Given the description of an element on the screen output the (x, y) to click on. 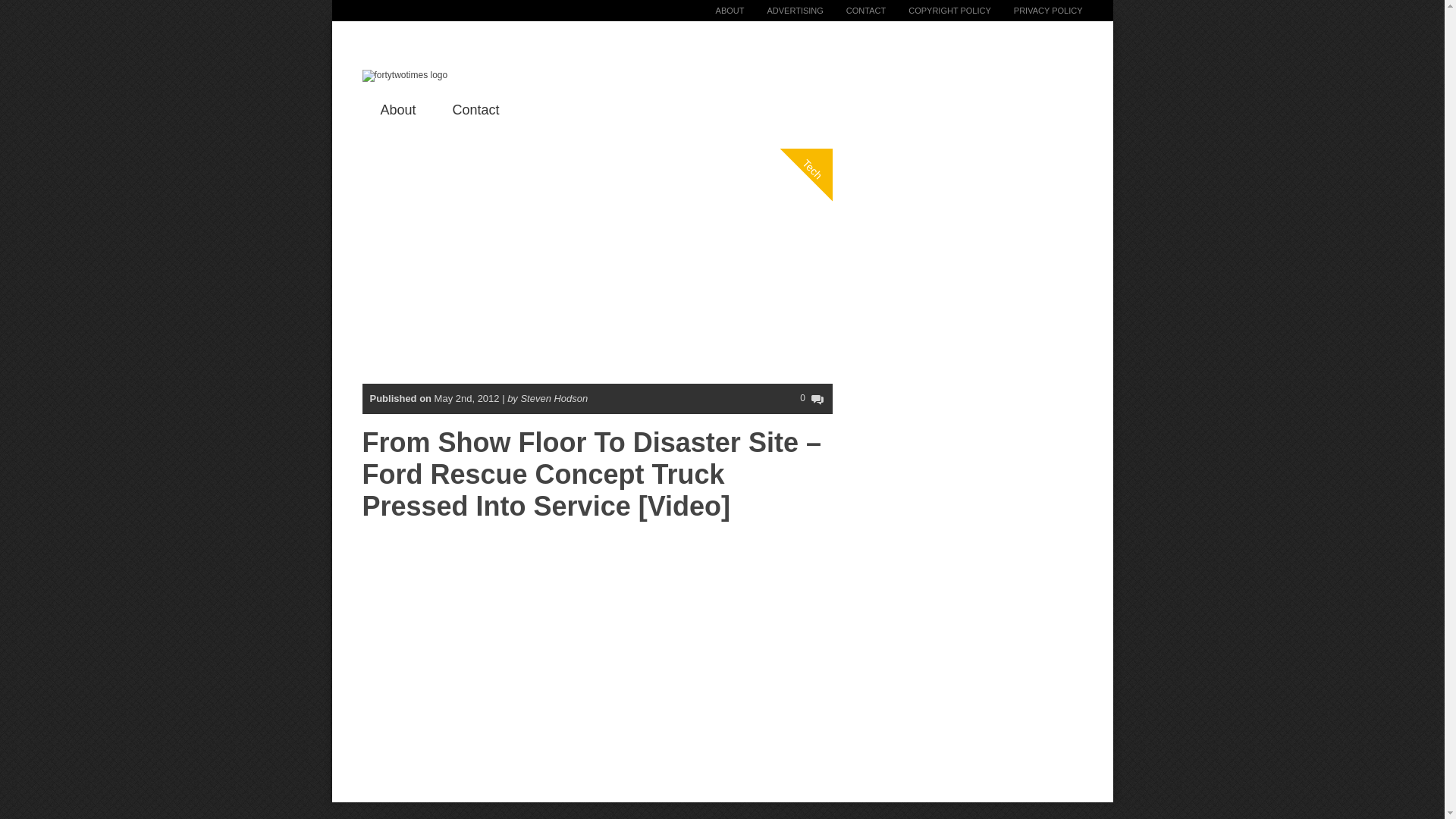
ABOUT (718, 10)
ADVERTISING (783, 10)
Tech (828, 106)
About (397, 110)
Contact (475, 110)
PRIVACY POLICY (1037, 10)
COPYRIGHT POLICY (938, 10)
CONTACT (854, 10)
